Given the description of an element on the screen output the (x, y) to click on. 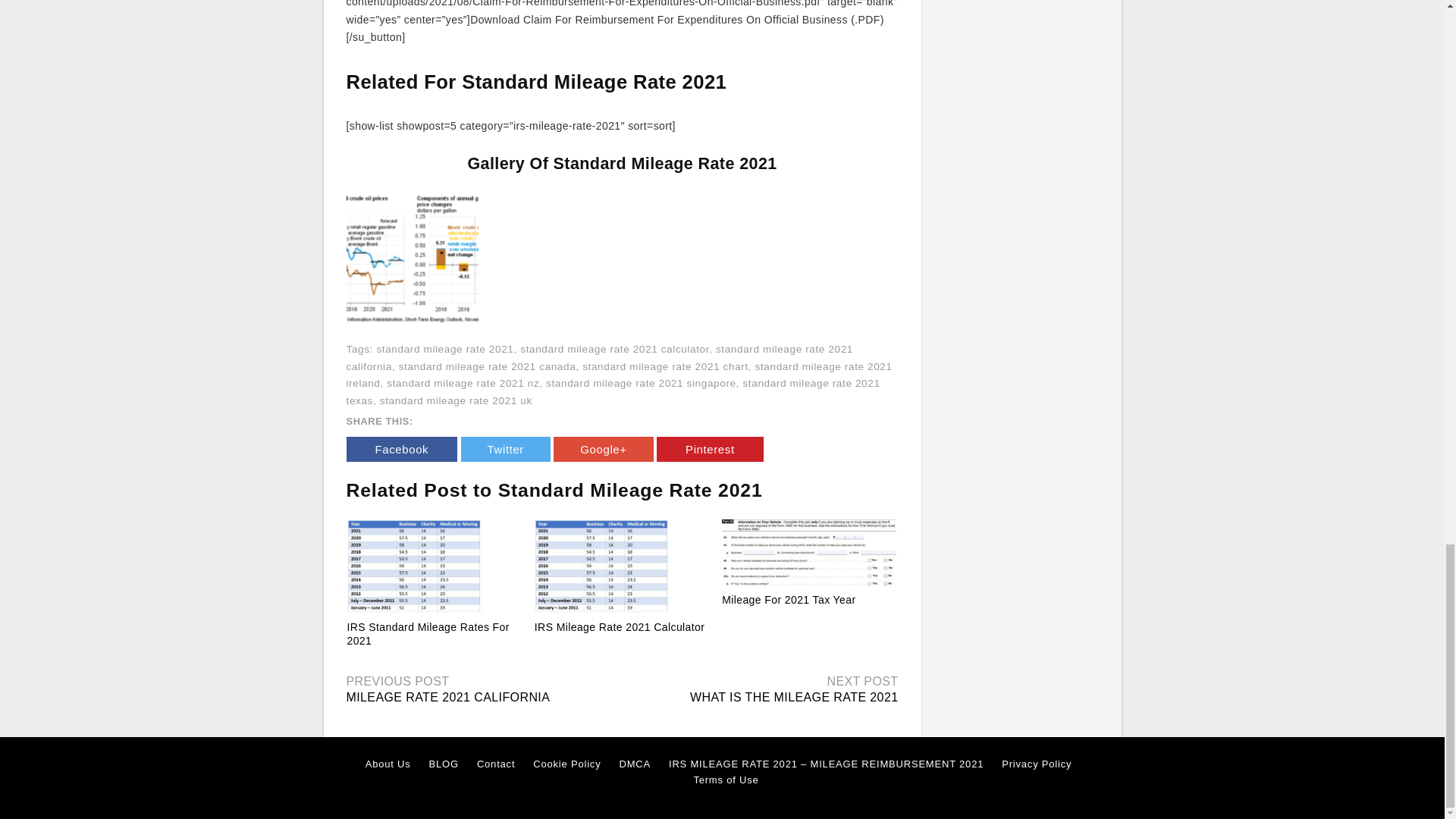
Twitter (505, 448)
standard mileage rate 2021 canada (487, 365)
standard mileage rate 2021 nz (462, 383)
standard mileage rate 2021 ireland (618, 374)
Contact (496, 764)
standard mileage rate 2021 calculator (614, 348)
IRS Mileage Rate 2021 Calculator (622, 565)
MILEAGE RATE 2021 CALIFORNIA (448, 697)
IRS Mileage Rate 2021 Calculator (619, 626)
BLOG (443, 764)
IRS Standard Mileage Rates For 2021 (428, 633)
standard mileage rate 2021 singapore (641, 383)
standard mileage rate 2021 chart (665, 365)
Pinterest (709, 448)
standard mileage rate 2021 california (599, 357)
